Given the description of an element on the screen output the (x, y) to click on. 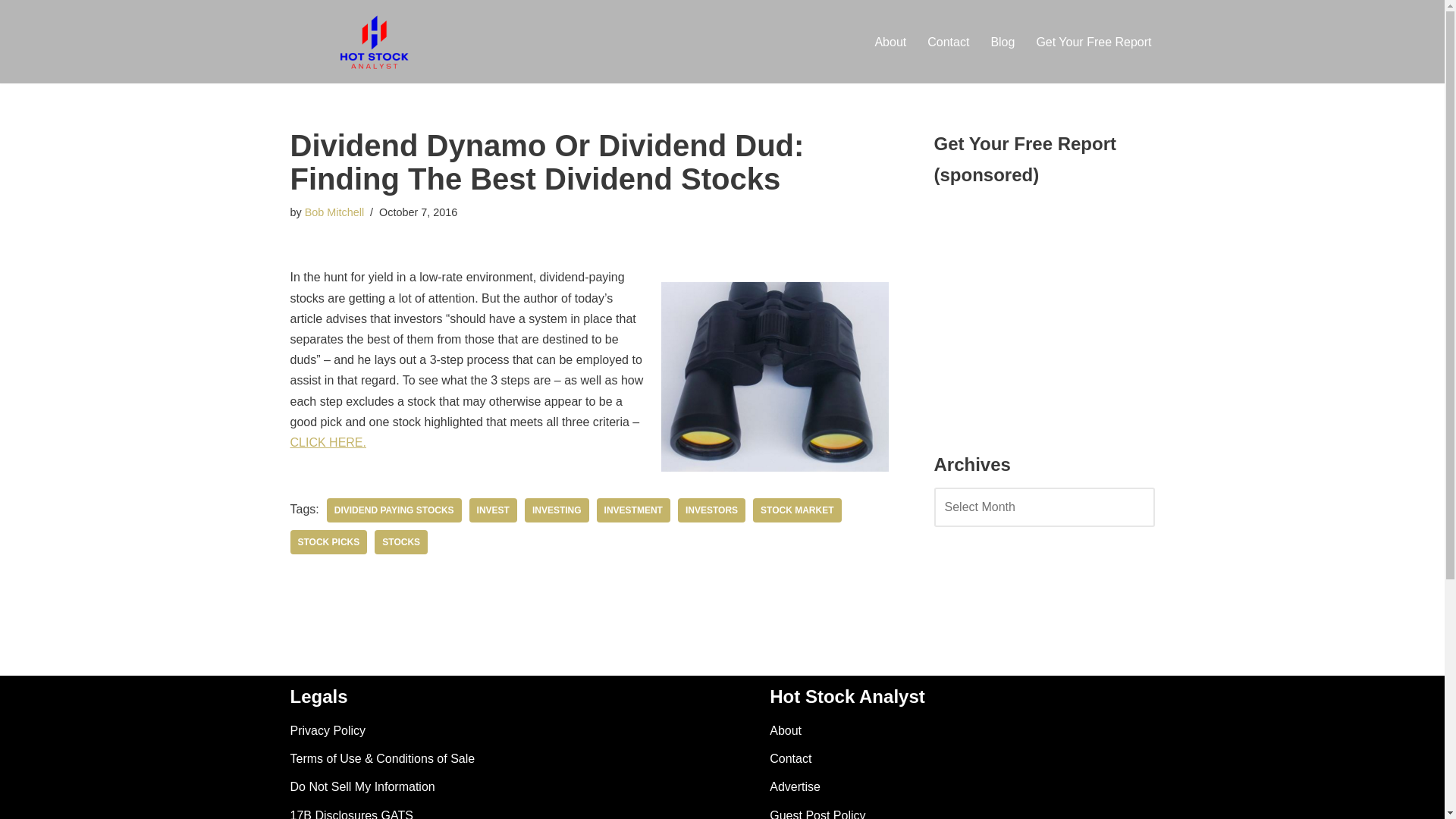
STOCKS (401, 541)
Privacy Policy (327, 730)
Guest Post Policy (817, 814)
Contact (948, 41)
About (890, 41)
STOCK MARKET (796, 509)
investors (711, 509)
Posts by Bob Mitchell (334, 212)
About (786, 730)
Advertise (795, 786)
